Given the description of an element on the screen output the (x, y) to click on. 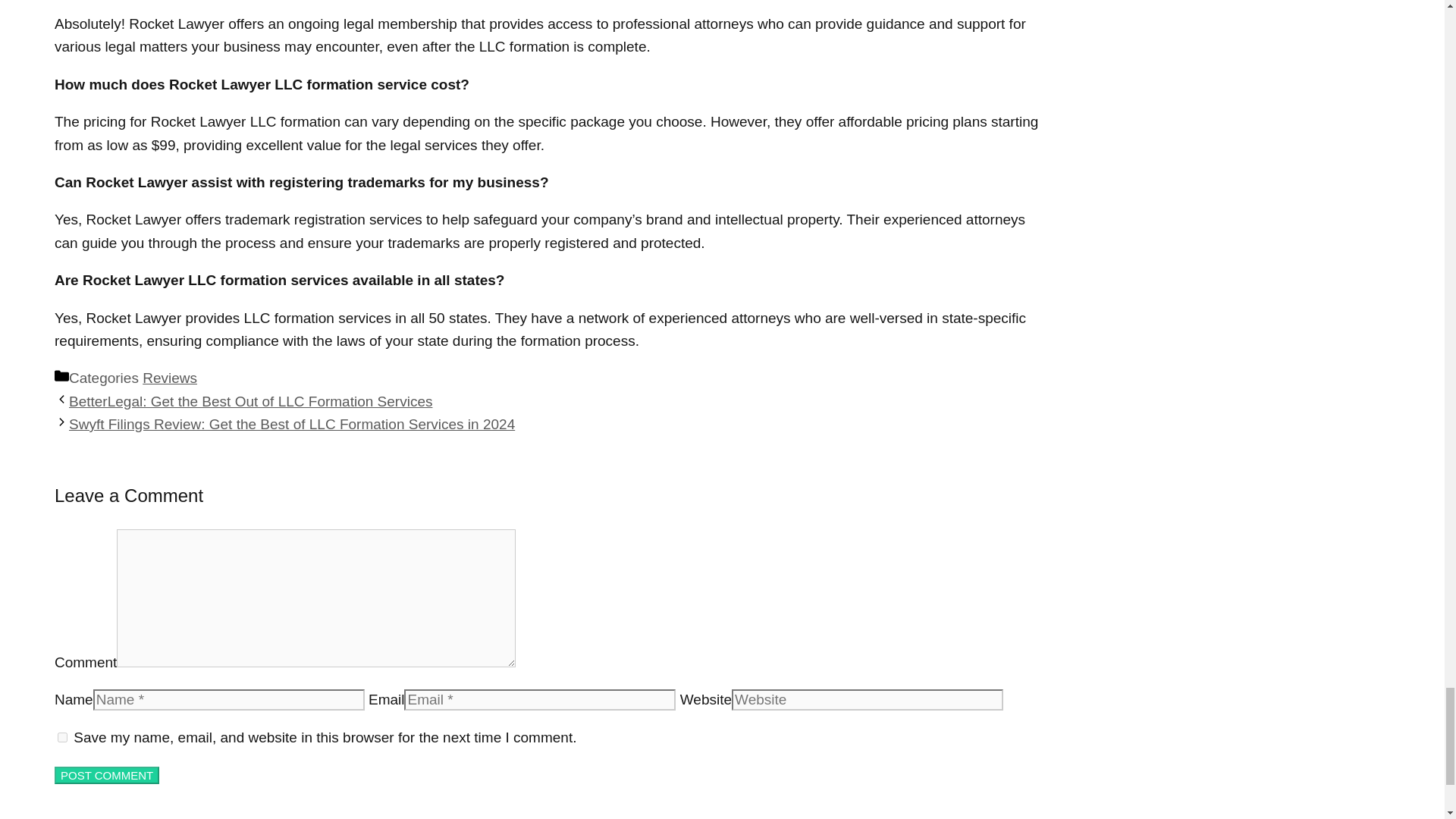
yes (62, 737)
BetterLegal: Get the Best Out of LLC Formation Services (250, 401)
Post Comment (106, 774)
Post Comment (106, 774)
Reviews (169, 377)
